Given the description of an element on the screen output the (x, y) to click on. 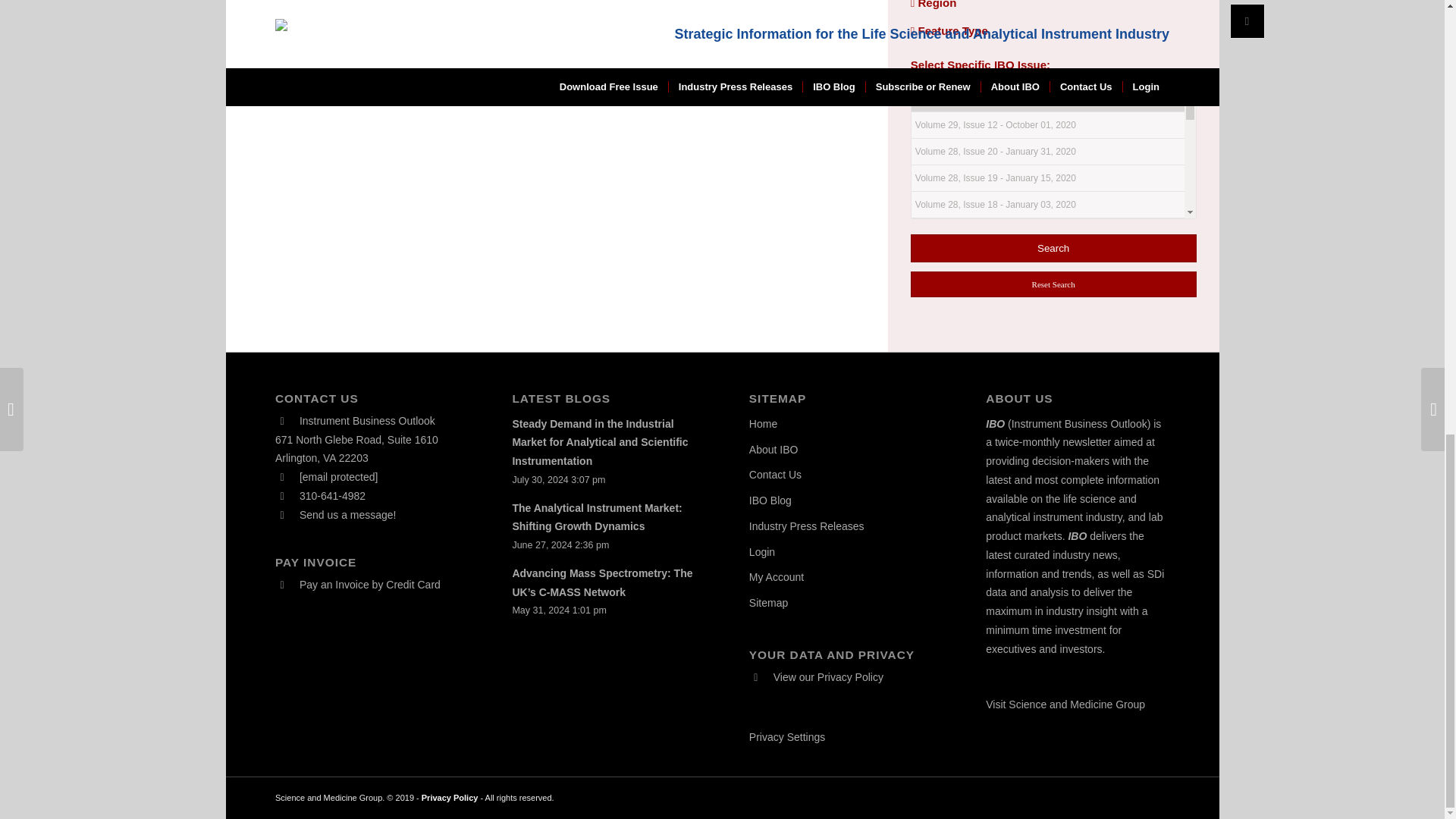
Region (933, 4)
The Analytical Instrument Market: Shifting Growth Dynamics (596, 517)
Feature Type (949, 30)
